Given the description of an element on the screen output the (x, y) to click on. 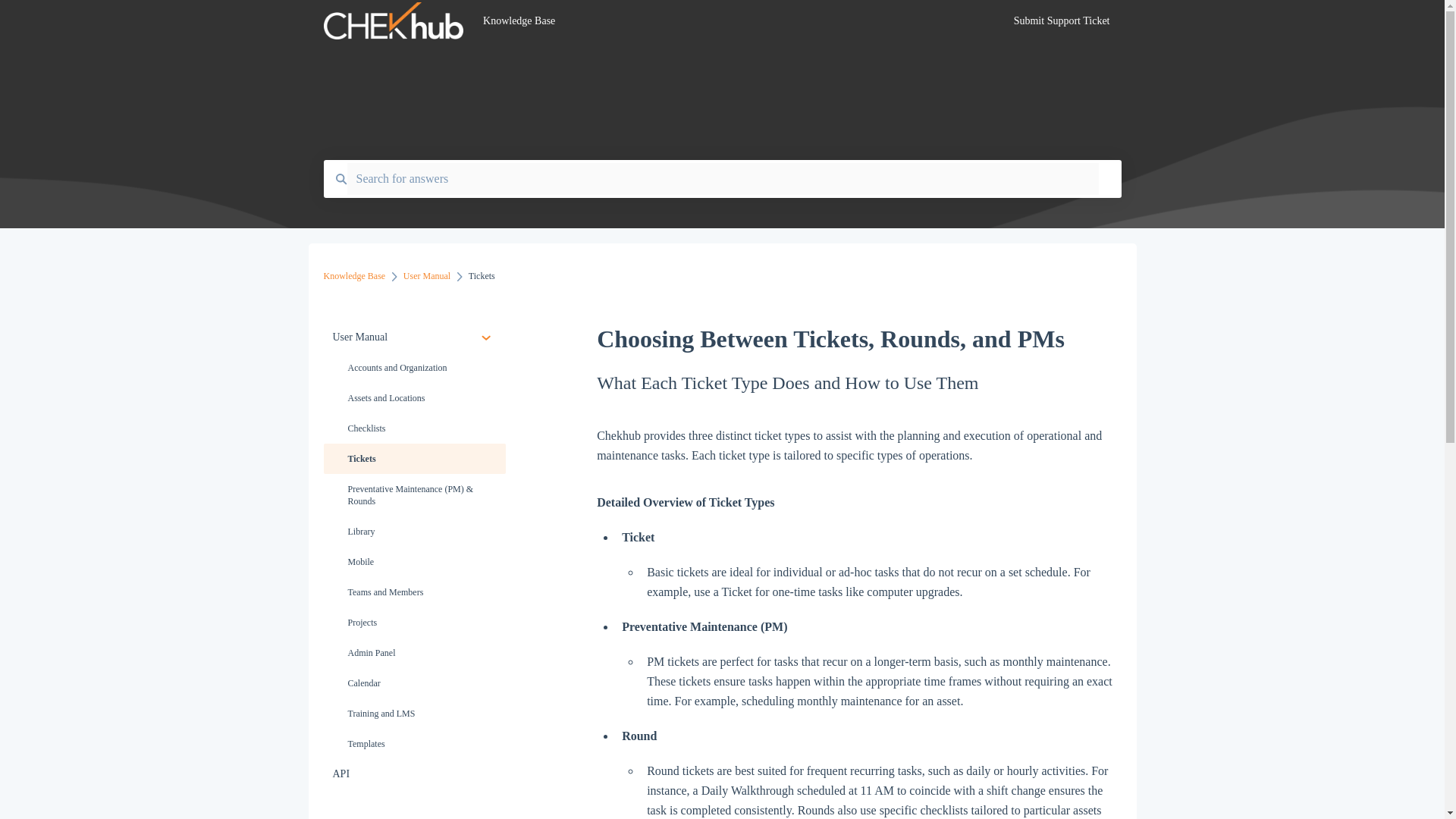
Library (414, 531)
Submit Support Ticket (1061, 25)
Teams and Members (414, 592)
Mobile (414, 562)
Admin Panel (414, 653)
API (414, 774)
Knowledge Base (354, 276)
User Manual (426, 276)
Projects (414, 622)
User Manual (414, 337)
